Given the description of an element on the screen output the (x, y) to click on. 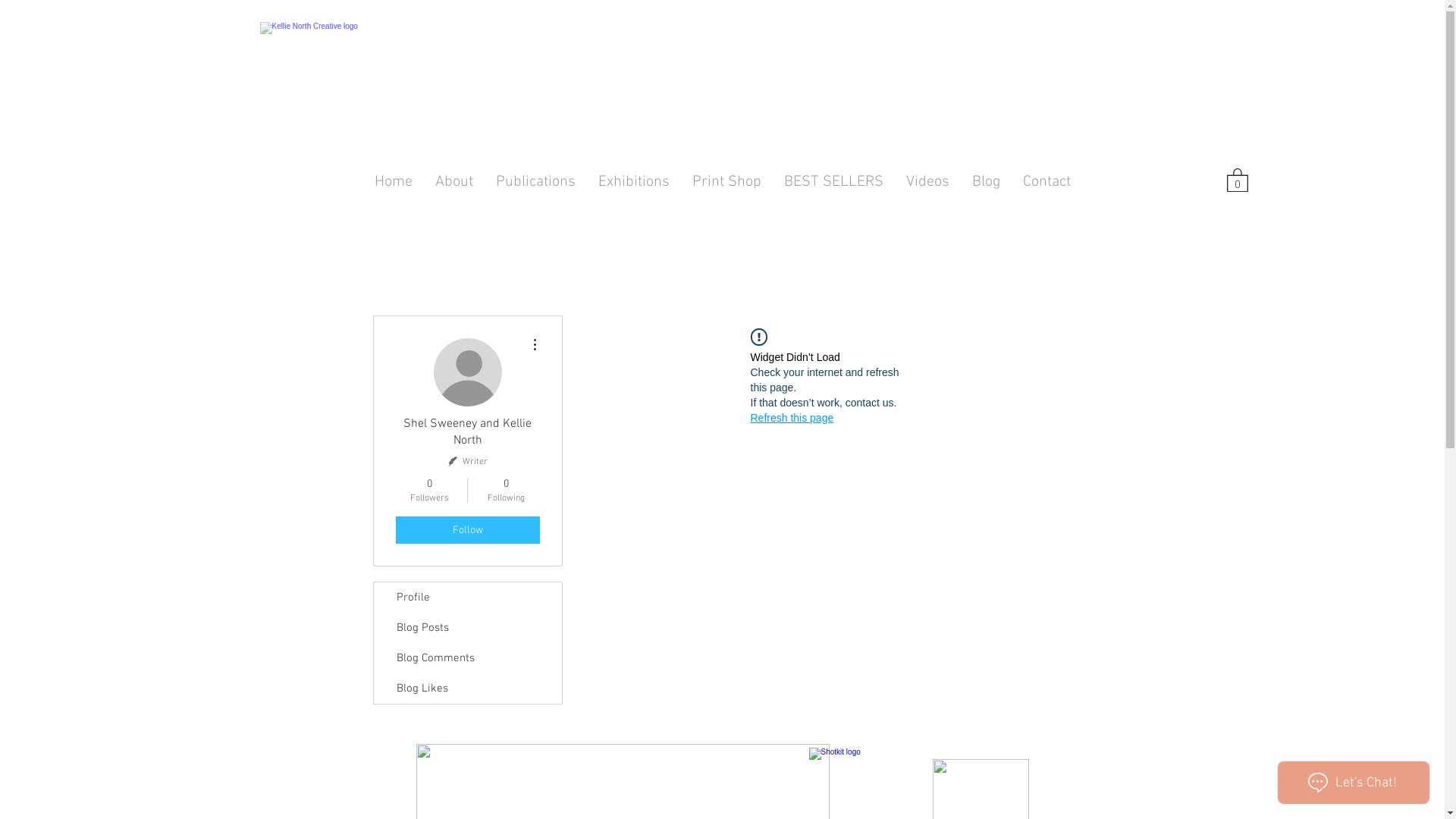
Follow Element type: text (467, 529)
Home Element type: text (392, 181)
Exhibitions Element type: text (633, 181)
Refresh this page Element type: text (792, 417)
Profile Element type: text (467, 597)
Contact Element type: text (1046, 181)
BEST SELLERS Element type: text (832, 181)
Publications Element type: text (534, 181)
Blog Posts Element type: text (467, 627)
0
Followers Element type: text (429, 490)
Videos Element type: text (927, 181)
About Element type: text (453, 181)
0
Following Element type: text (505, 490)
Blog Likes Element type: text (467, 688)
0 Element type: text (1237, 178)
Print Shop Element type: text (726, 181)
Blog Comments Element type: text (467, 658)
Blog Element type: text (985, 181)
